Given the description of an element on the screen output the (x, y) to click on. 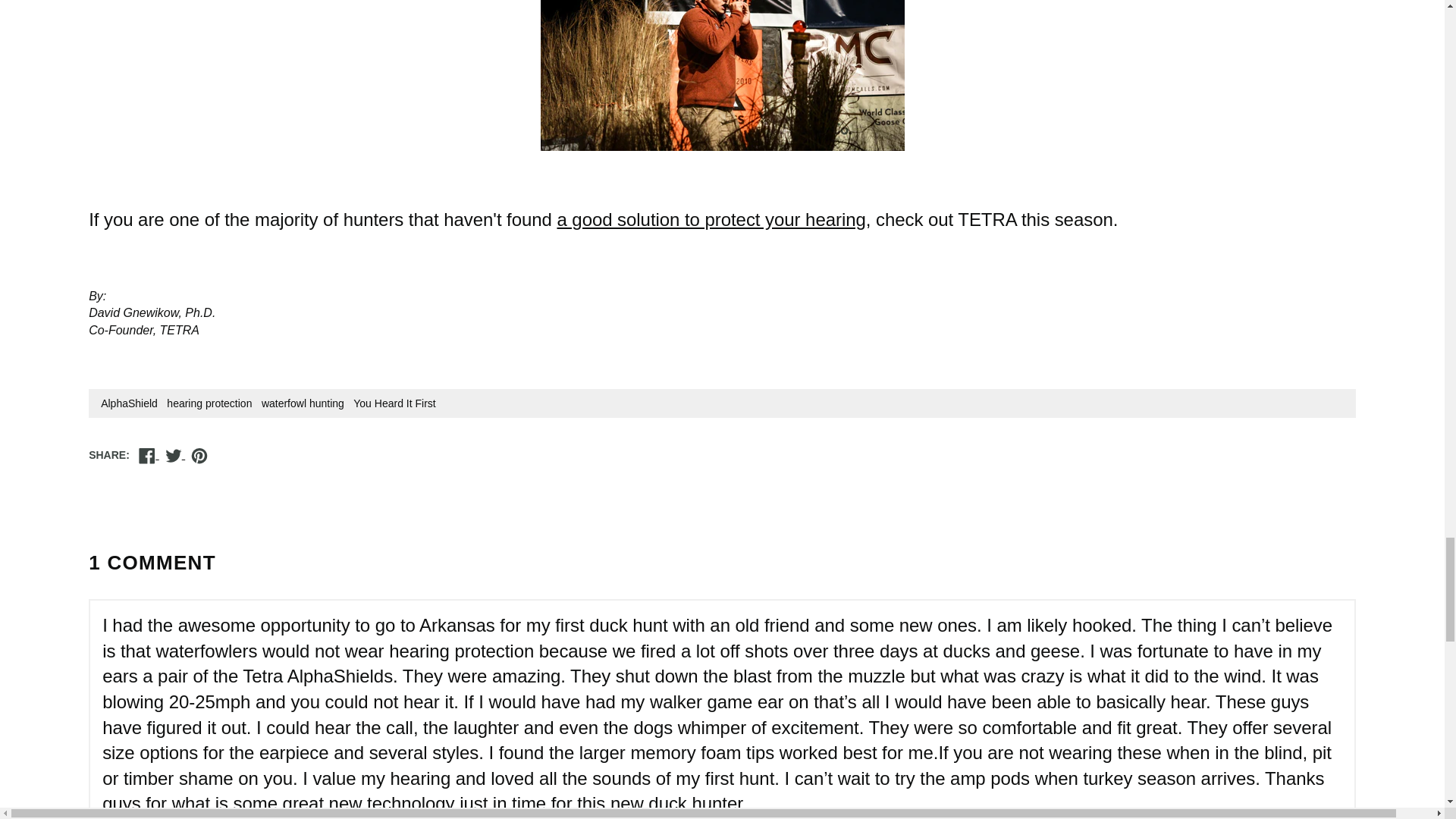
AlphaShield Hearing Products (710, 219)
